Given the description of an element on the screen output the (x, y) to click on. 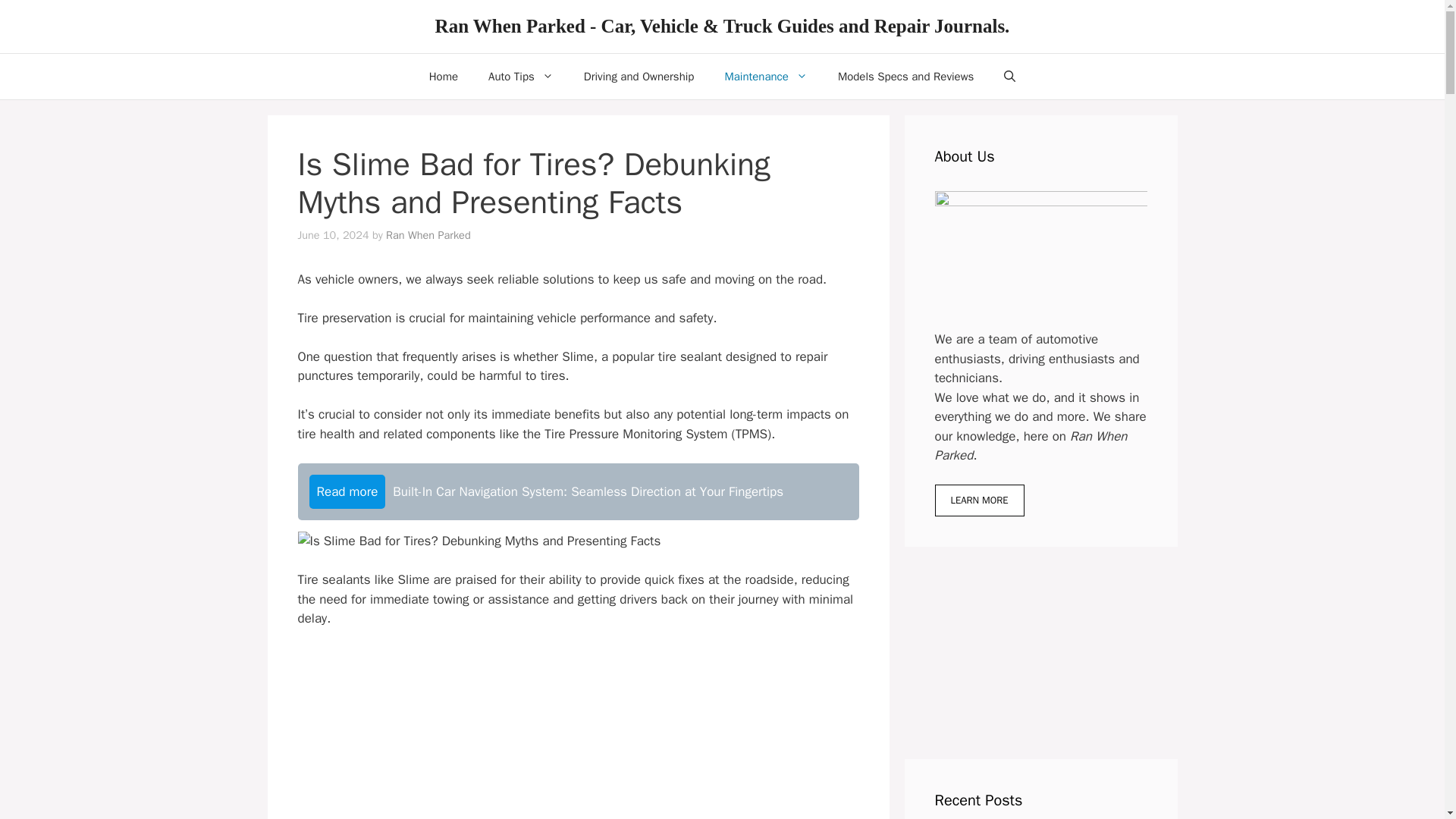
Models Specs and Reviews (905, 76)
Driving and Ownership (639, 76)
Maintenance (765, 76)
Auto Tips (521, 76)
Home (443, 76)
View all posts by Ran When Parked (427, 234)
Is Slime Bad for Tires? Debunking Myths and Presenting Facts (479, 541)
Ran When Parked (427, 234)
